Given the description of an element on the screen output the (x, y) to click on. 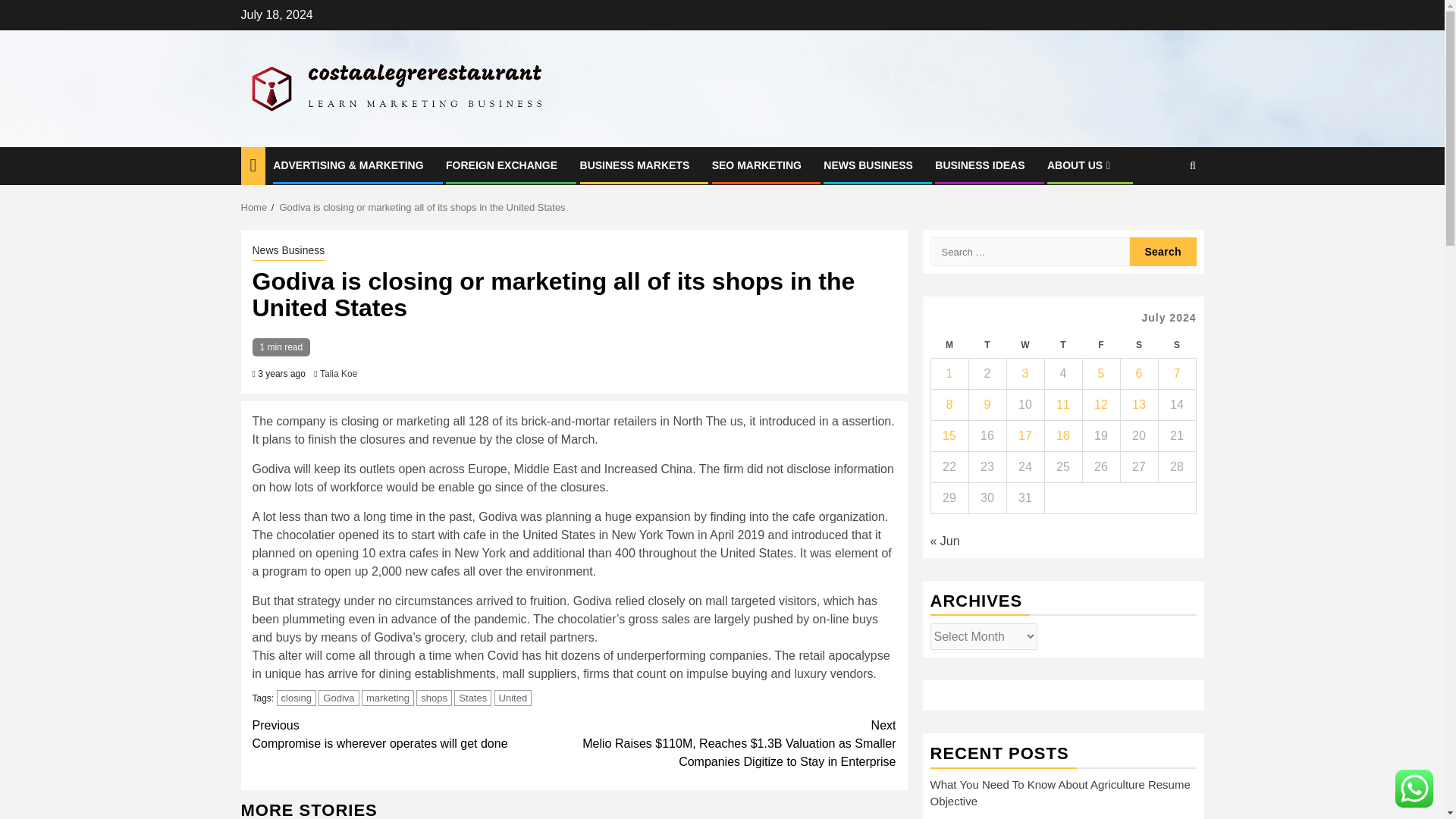
Home (254, 206)
Saturday (1138, 345)
United (513, 697)
Thursday (1062, 345)
Search (1192, 165)
News Business (287, 251)
Search (1162, 251)
States (473, 697)
Tuesday (412, 734)
NEWS BUSINESS (987, 345)
Godiva (868, 164)
marketing (338, 697)
Search (387, 697)
